Given the description of an element on the screen output the (x, y) to click on. 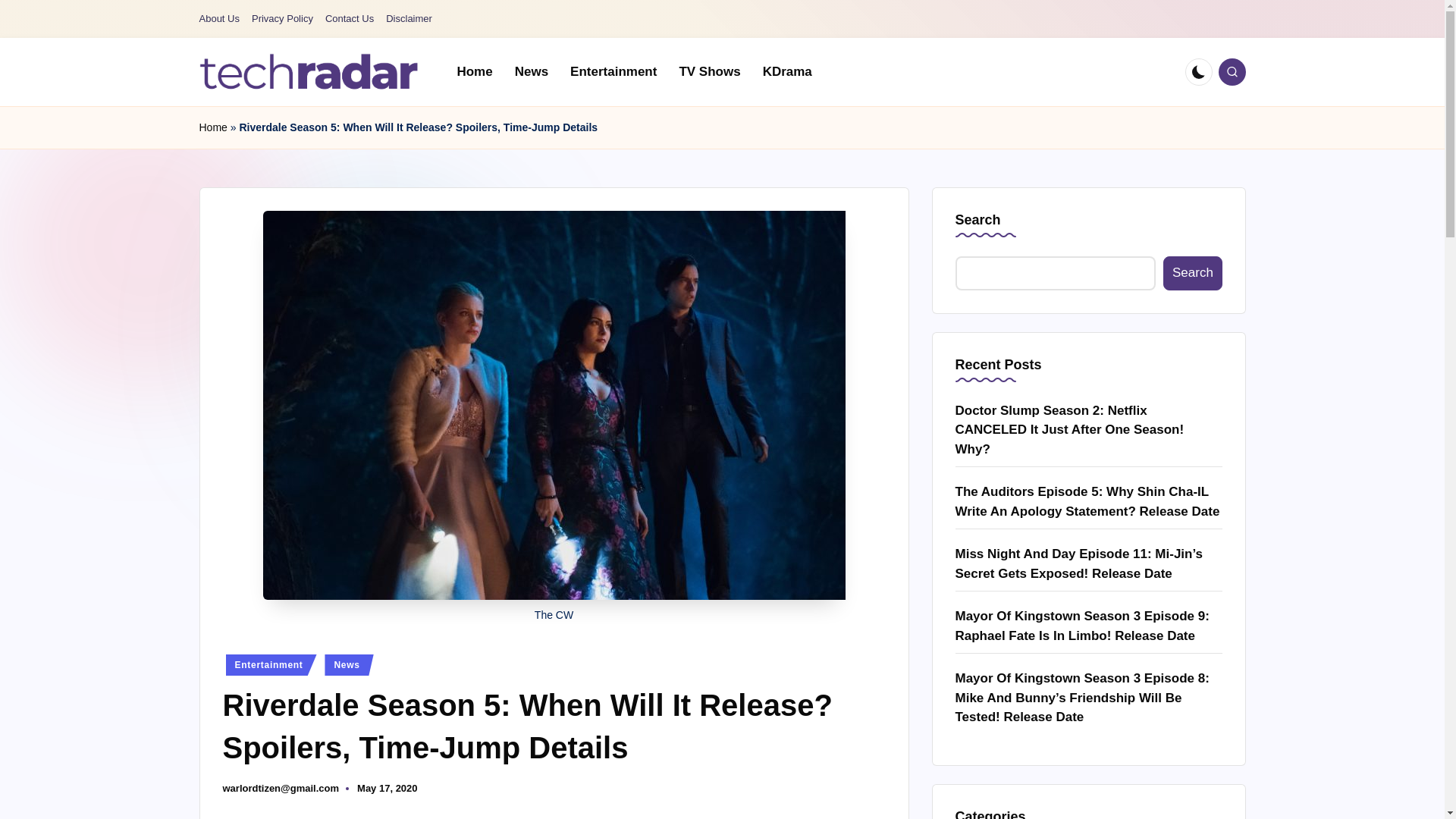
Home (473, 71)
Disclaimer (408, 18)
News (348, 664)
KDrama (787, 71)
Search (1192, 273)
Home (212, 127)
About Us (218, 18)
News (531, 71)
Entertainment (271, 664)
TV Shows (709, 71)
Contact Us (349, 18)
Privacy Policy (282, 18)
